Given the description of an element on the screen output the (x, y) to click on. 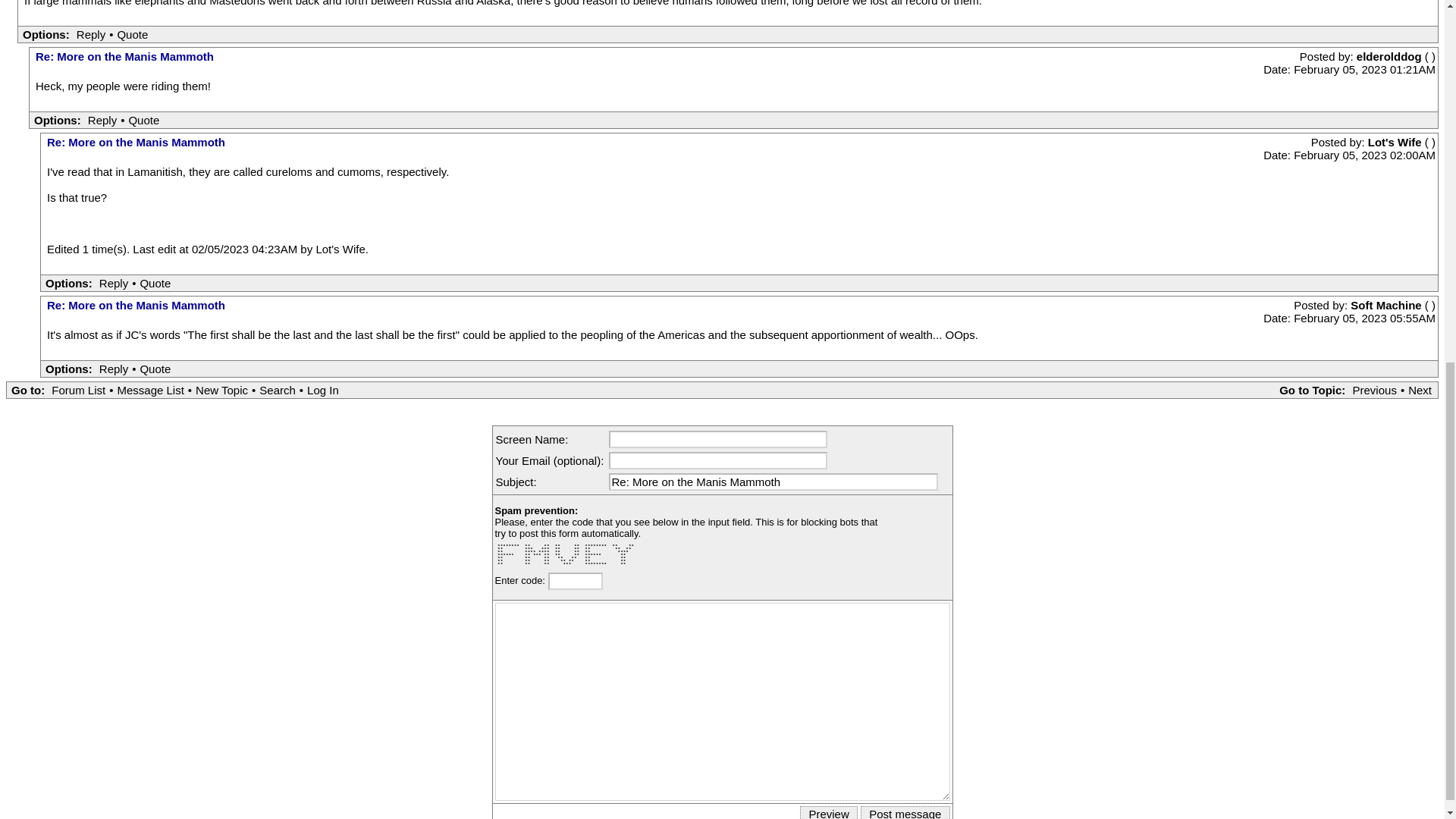
Re: More on the Manis Mammoth (124, 56)
Reply (102, 120)
Quote (143, 120)
Quote (132, 34)
Re: More on the Manis Mammoth (773, 480)
Reply (90, 34)
